Given the description of an element on the screen output the (x, y) to click on. 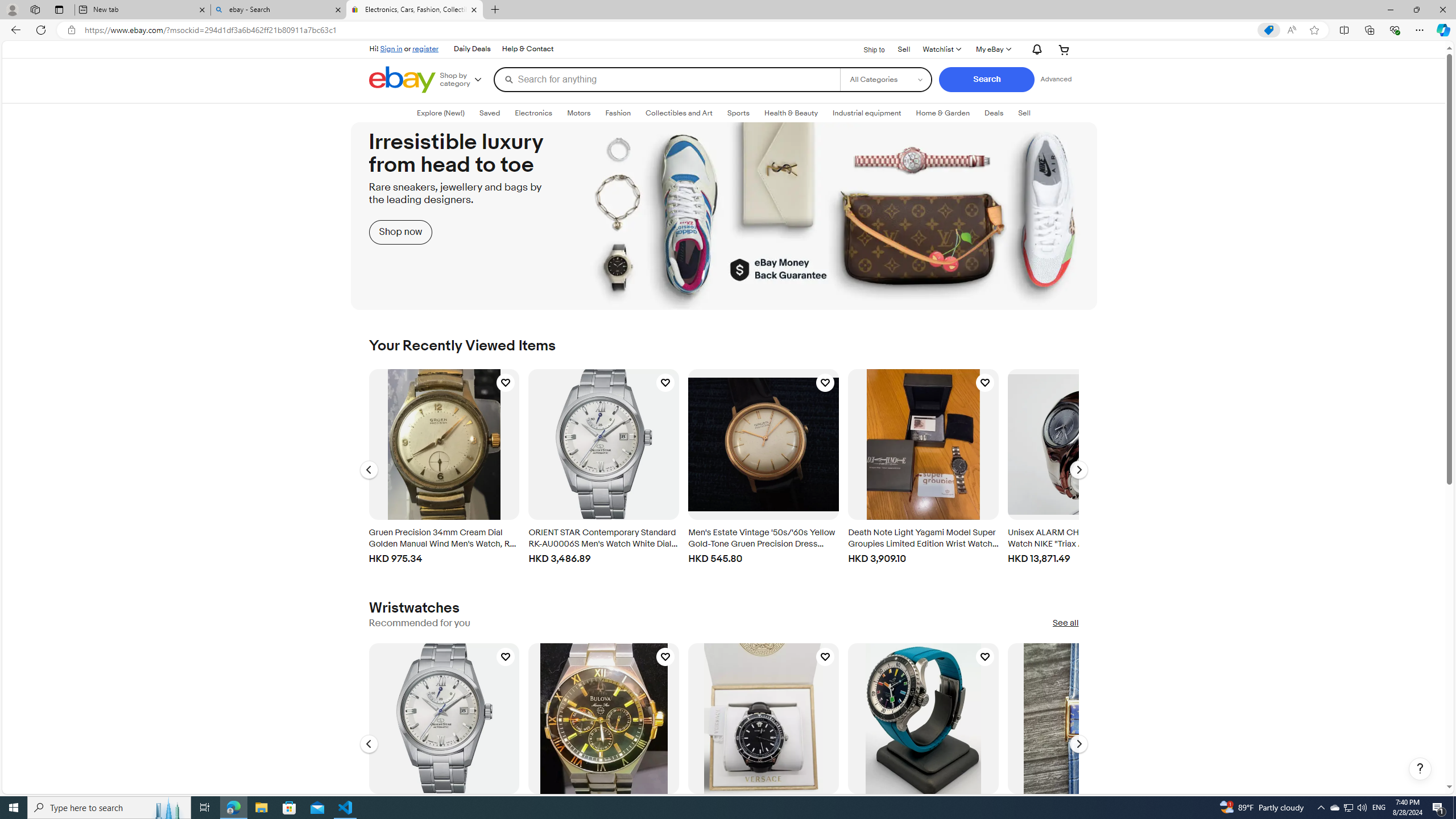
Deals (993, 112)
Go to the next slide, Wristwatches - Carousel (1077, 743)
My eBay (992, 49)
Sign in (391, 48)
Shop by category (464, 79)
AutomationID: gh-eb-My (992, 49)
Fashion (617, 112)
Irresistible luxury from head to toe (723, 215)
